Given the description of an element on the screen output the (x, y) to click on. 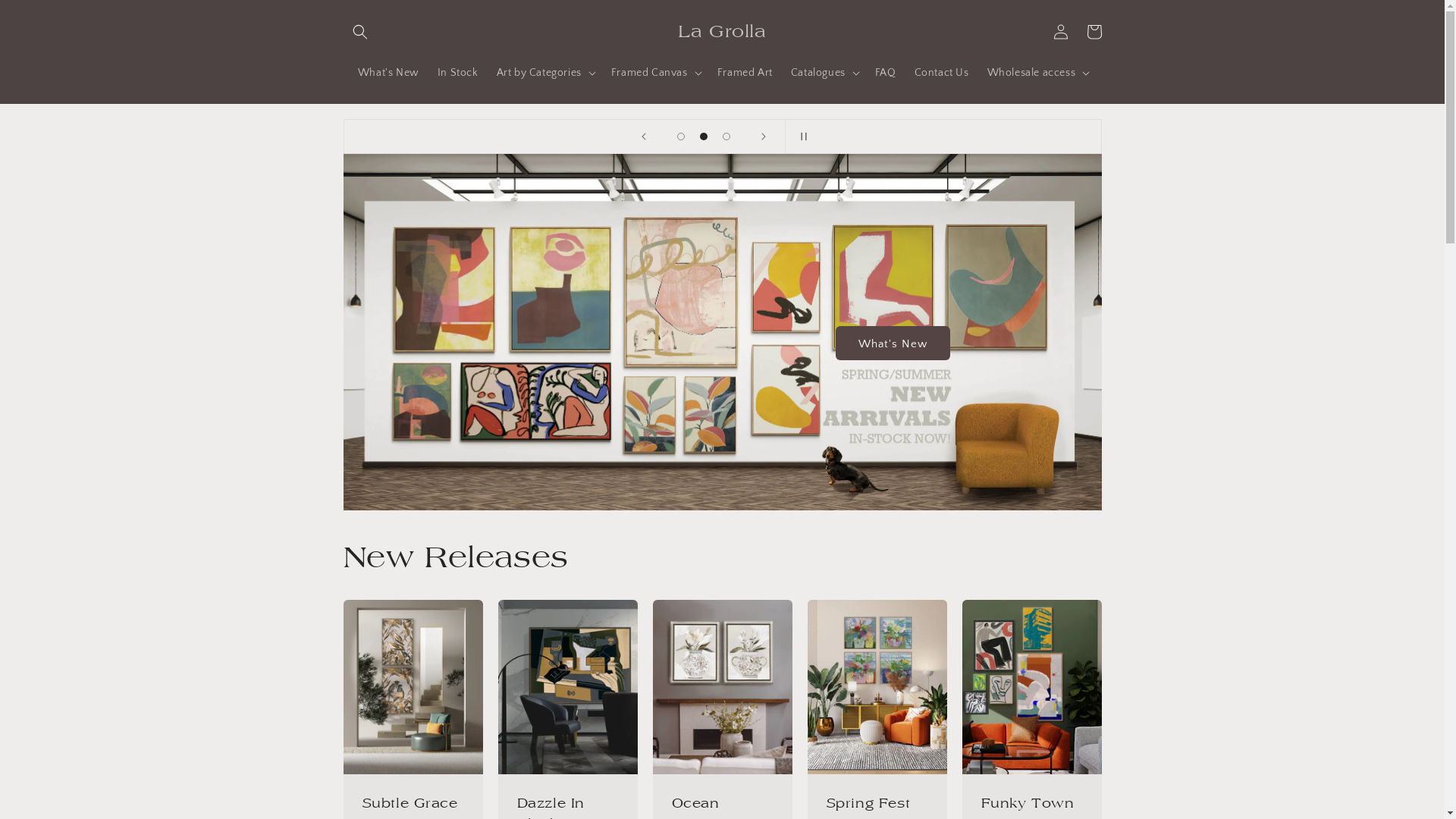
View Here Element type: text (133, 436)
Contact Us Element type: text (941, 71)
FAQ Element type: text (885, 71)
What's New Element type: text (388, 71)
Cart Element type: text (1093, 31)
What's New Element type: text (892, 343)
La Grolla Element type: text (721, 31)
Framed Art Element type: text (744, 71)
In Stock Element type: text (457, 71)
Log in Element type: text (1059, 31)
